Given the description of an element on the screen output the (x, y) to click on. 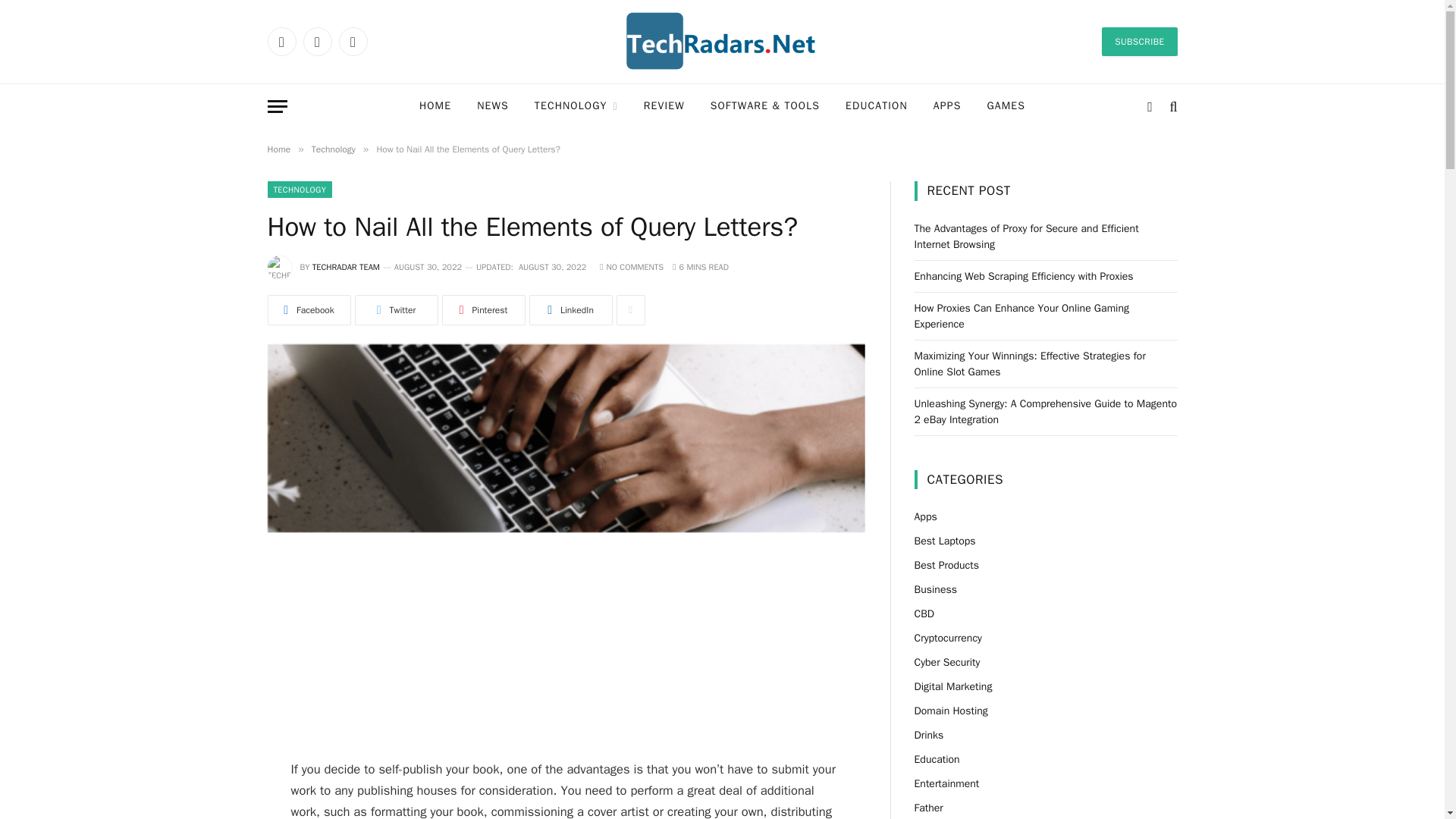
Technology (333, 149)
Switch to Dark Design - easier on eyes. (1149, 106)
Share on Facebook (308, 309)
Facebook (280, 41)
SUBSCRIBE (1139, 41)
Share on LinkedIn (570, 309)
GAMES (1006, 106)
Home (277, 149)
APPS (947, 106)
Share on Pinterest (482, 309)
Posts by Techradar Team (346, 266)
EDUCATION (876, 106)
REVIEW (663, 106)
Show More Social Sharing (630, 309)
